Given the description of an element on the screen output the (x, y) to click on. 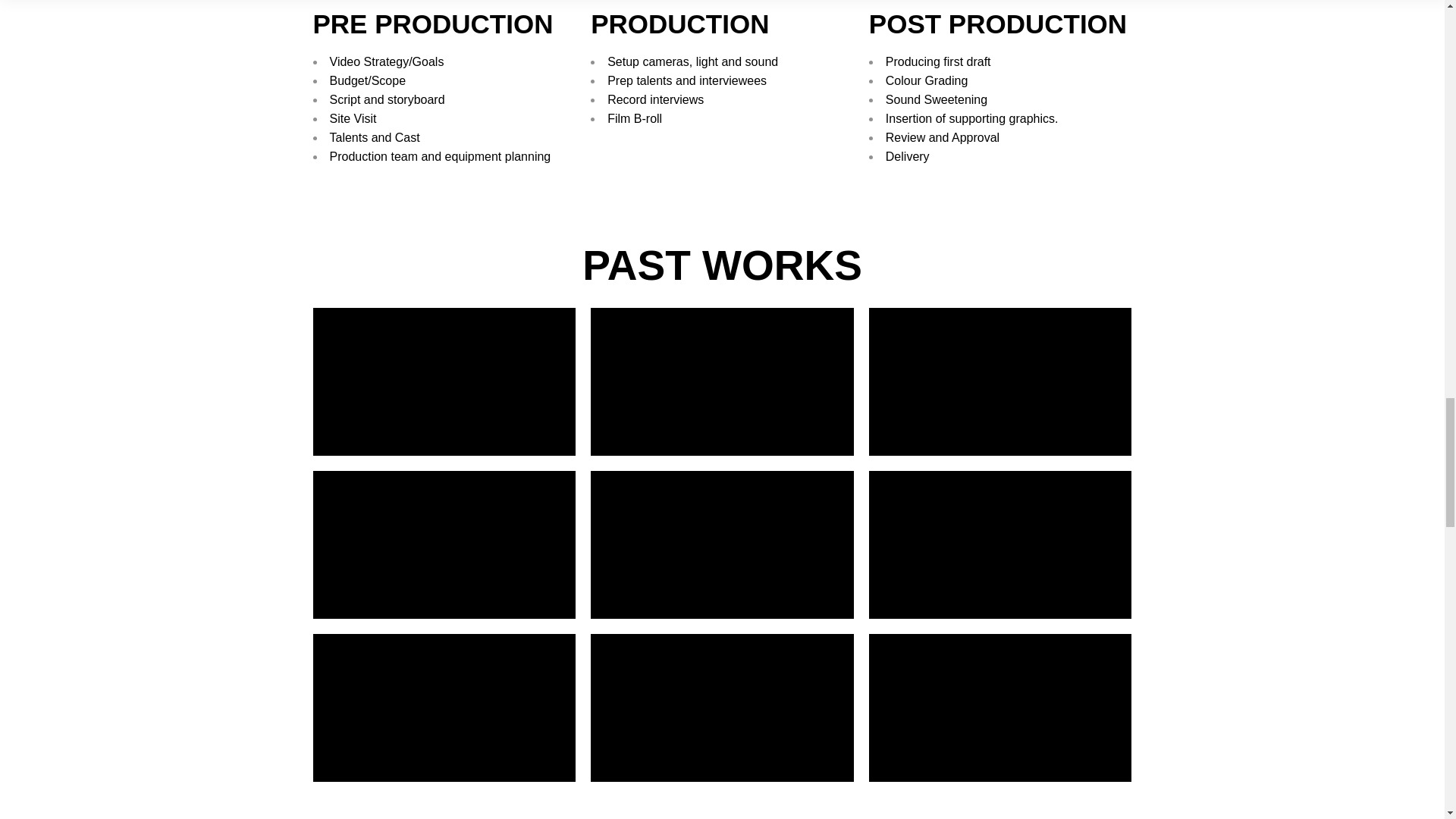
vimeo Video Player (1000, 544)
vimeo Video Player (444, 381)
vimeo Video Player (722, 707)
vimeo Video Player (444, 544)
vimeo Video Player (722, 381)
vimeo Video Player (1000, 707)
vimeo Video Player (444, 707)
vimeo Video Player (1000, 381)
vimeo Video Player (722, 544)
